Given the description of an element on the screen output the (x, y) to click on. 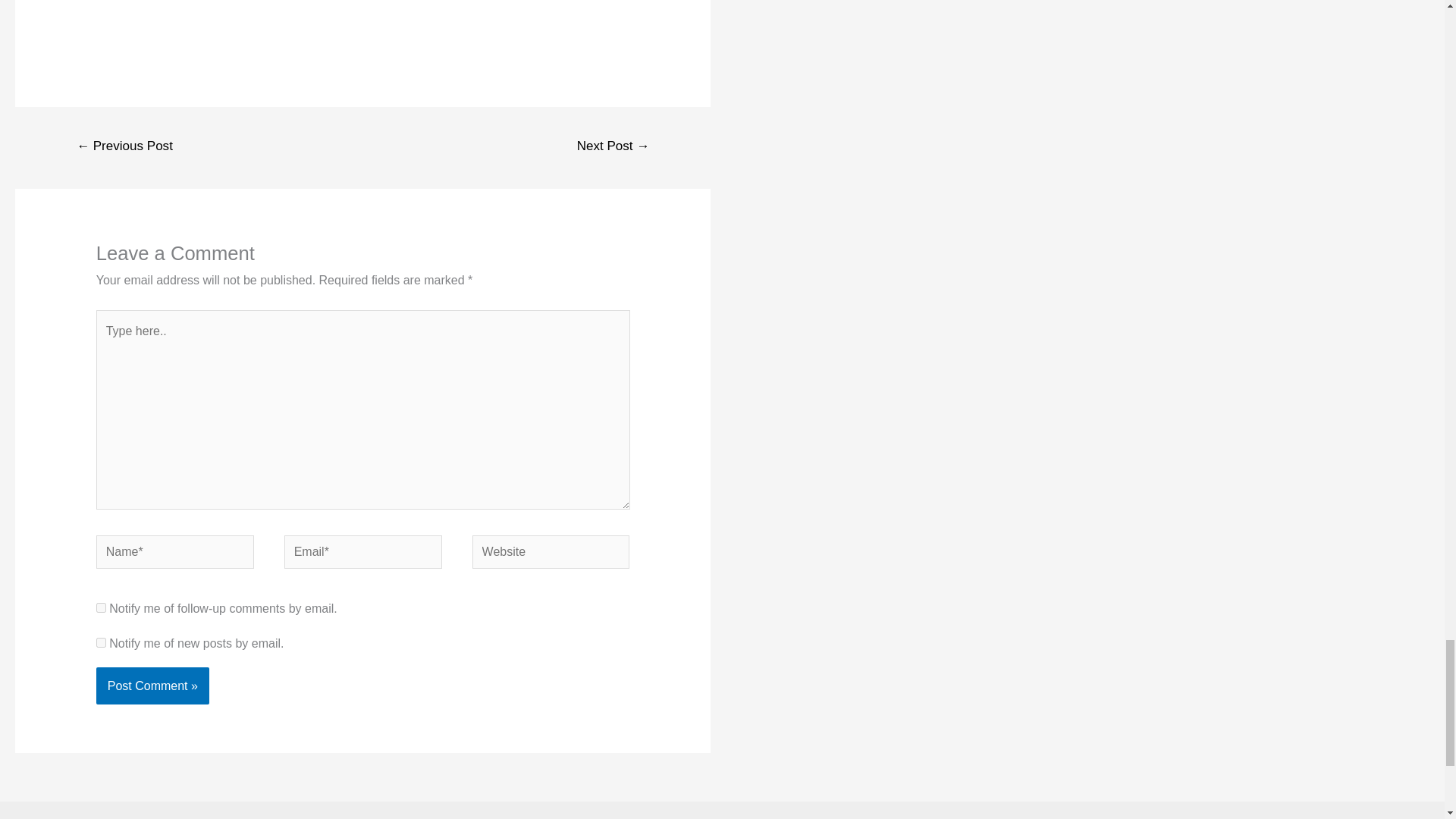
subscribe (101, 642)
subscribe (101, 607)
